Given the description of an element on the screen output the (x, y) to click on. 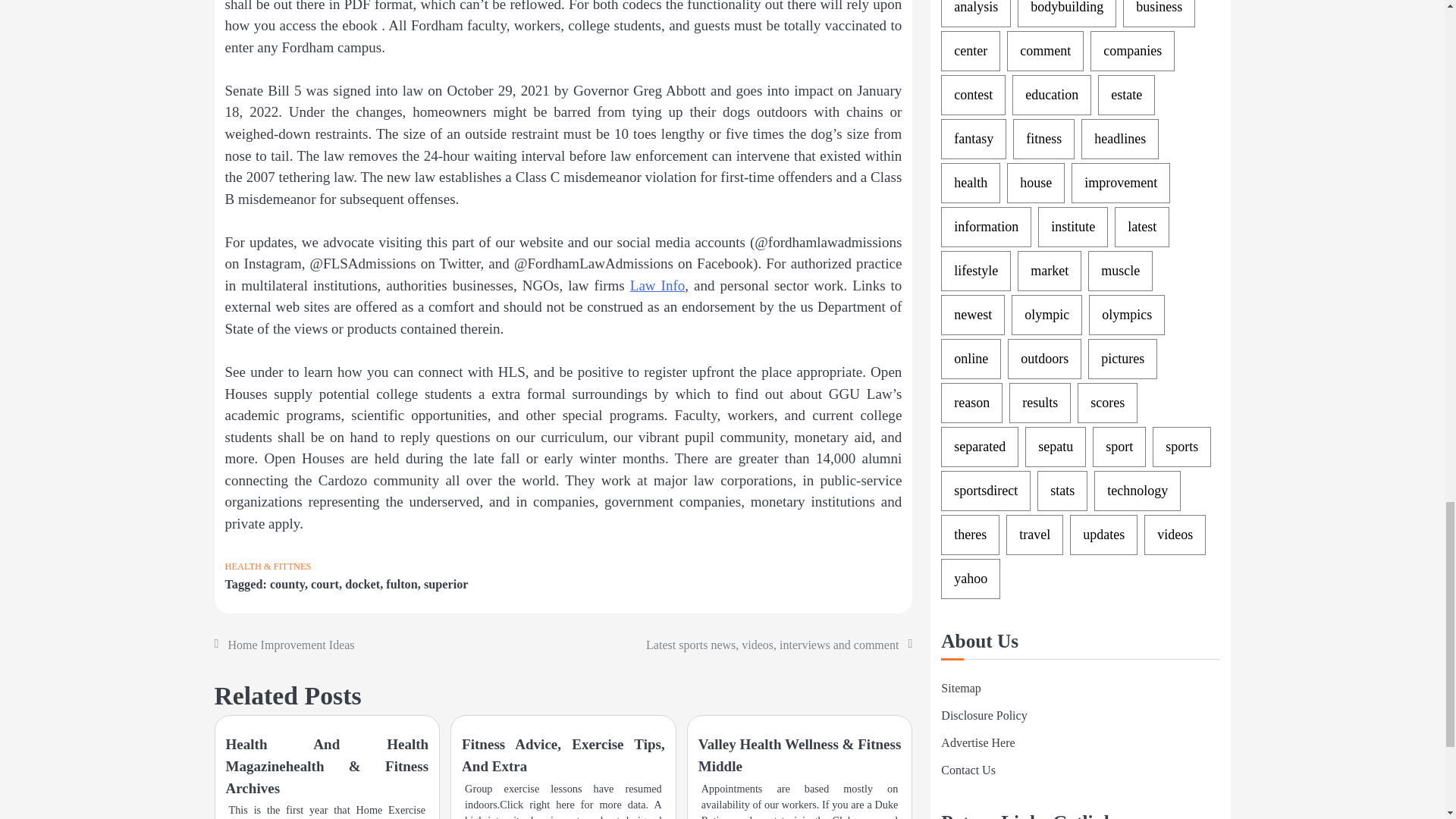
docket (362, 584)
court (325, 584)
Home Improvement Ideas (290, 644)
Fitness Advice, Exercise Tips, And Extra (563, 754)
superior (445, 584)
Law Info (657, 285)
Latest sports news, videos, interviews and comment (772, 644)
fulton (401, 584)
county (286, 584)
